Given the description of an element on the screen output the (x, y) to click on. 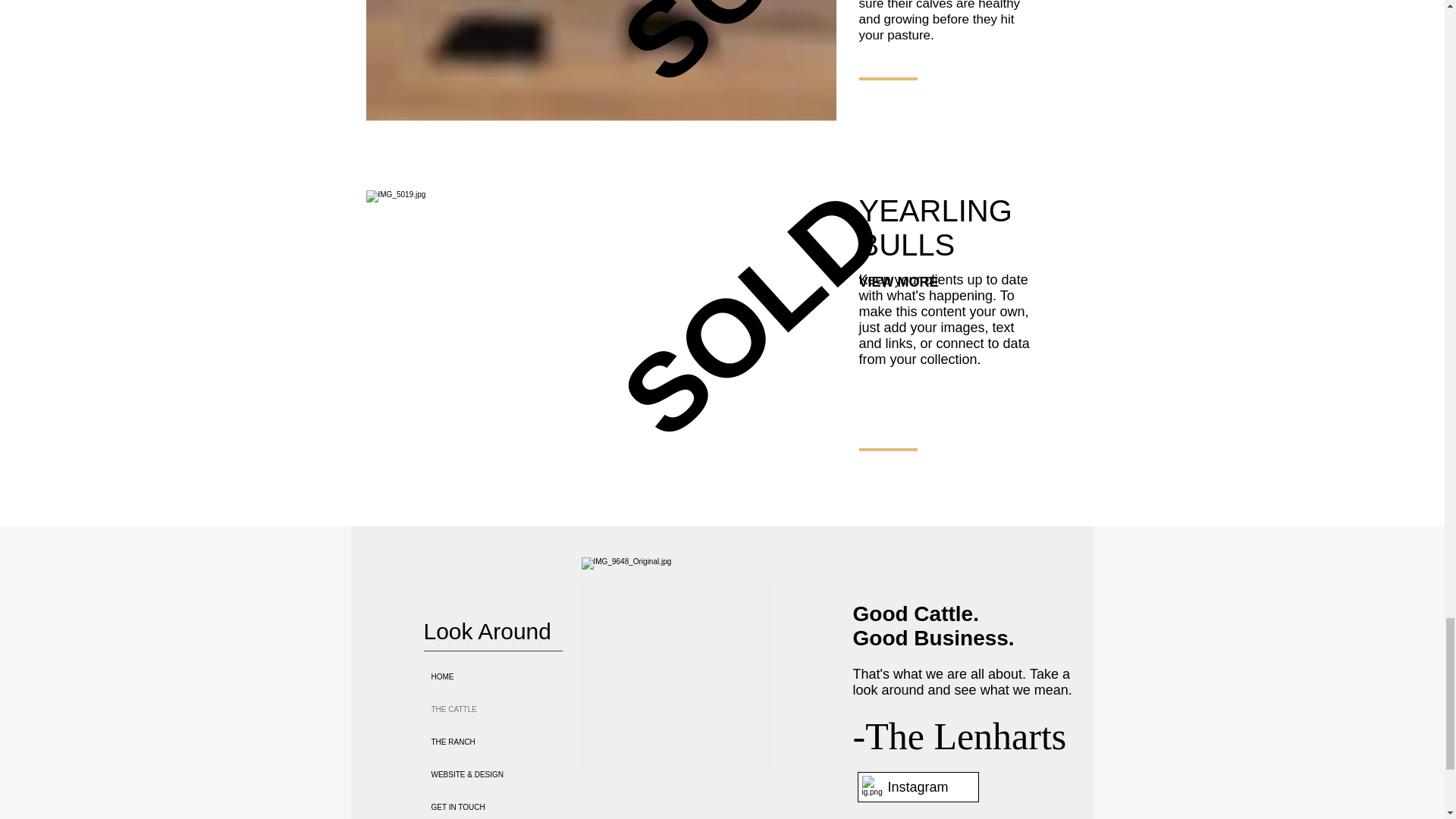
THE CATTLE (509, 708)
GET IN TOUCH (509, 805)
THE RANCH (509, 741)
Instagram (917, 787)
HOME (509, 676)
